Given the description of an element on the screen output the (x, y) to click on. 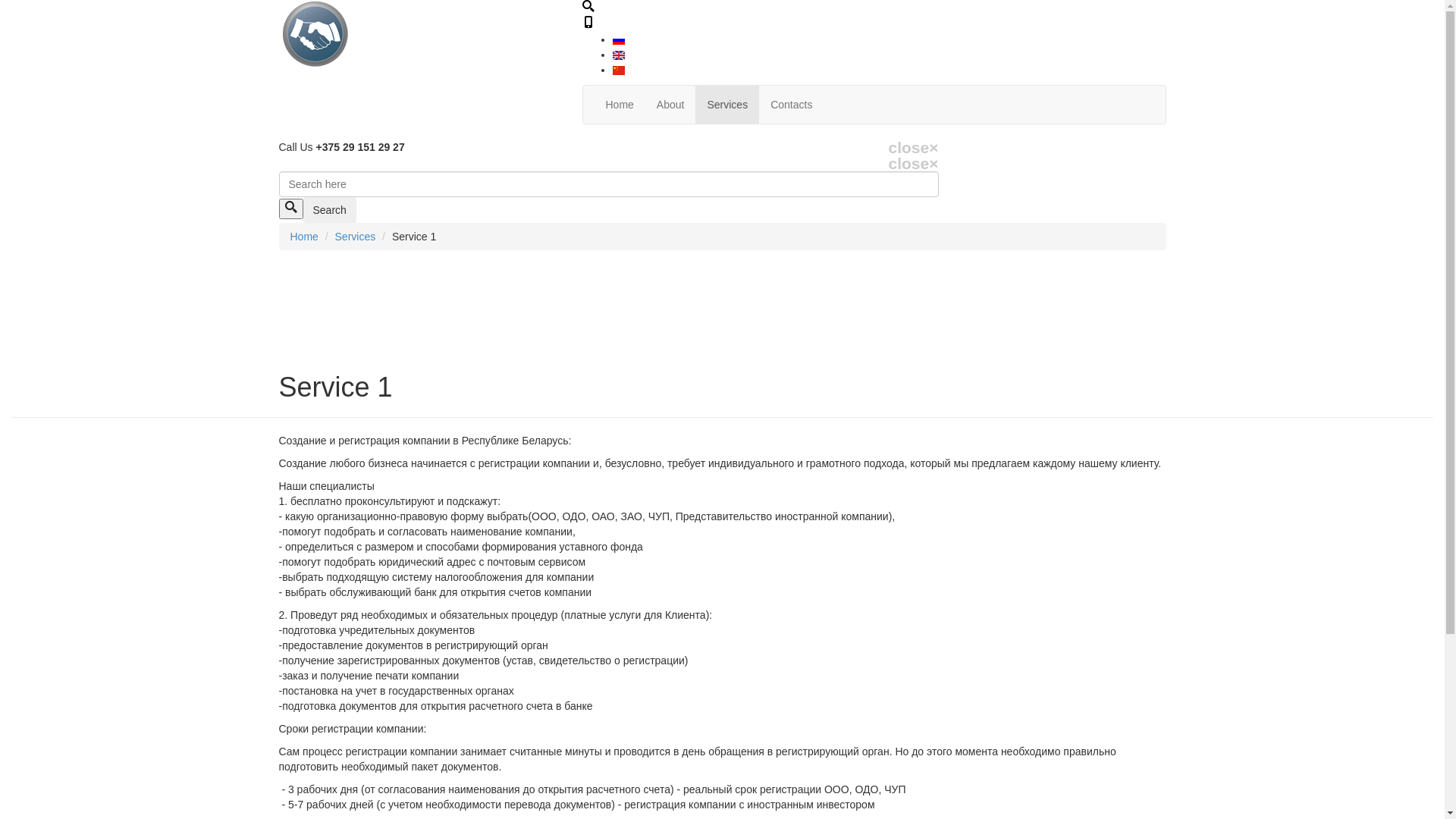
English Element type: hover (618, 54)
Services Element type: text (355, 236)
About Element type: text (670, 104)
Enter the terms you wish to search for. Element type: hover (608, 184)
Search Element type: text (329, 209)
Home Element type: text (303, 236)
Home Element type: text (619, 104)
Services Element type: text (727, 104)
Contacts Element type: text (791, 104)
